Given the description of an element on the screen output the (x, y) to click on. 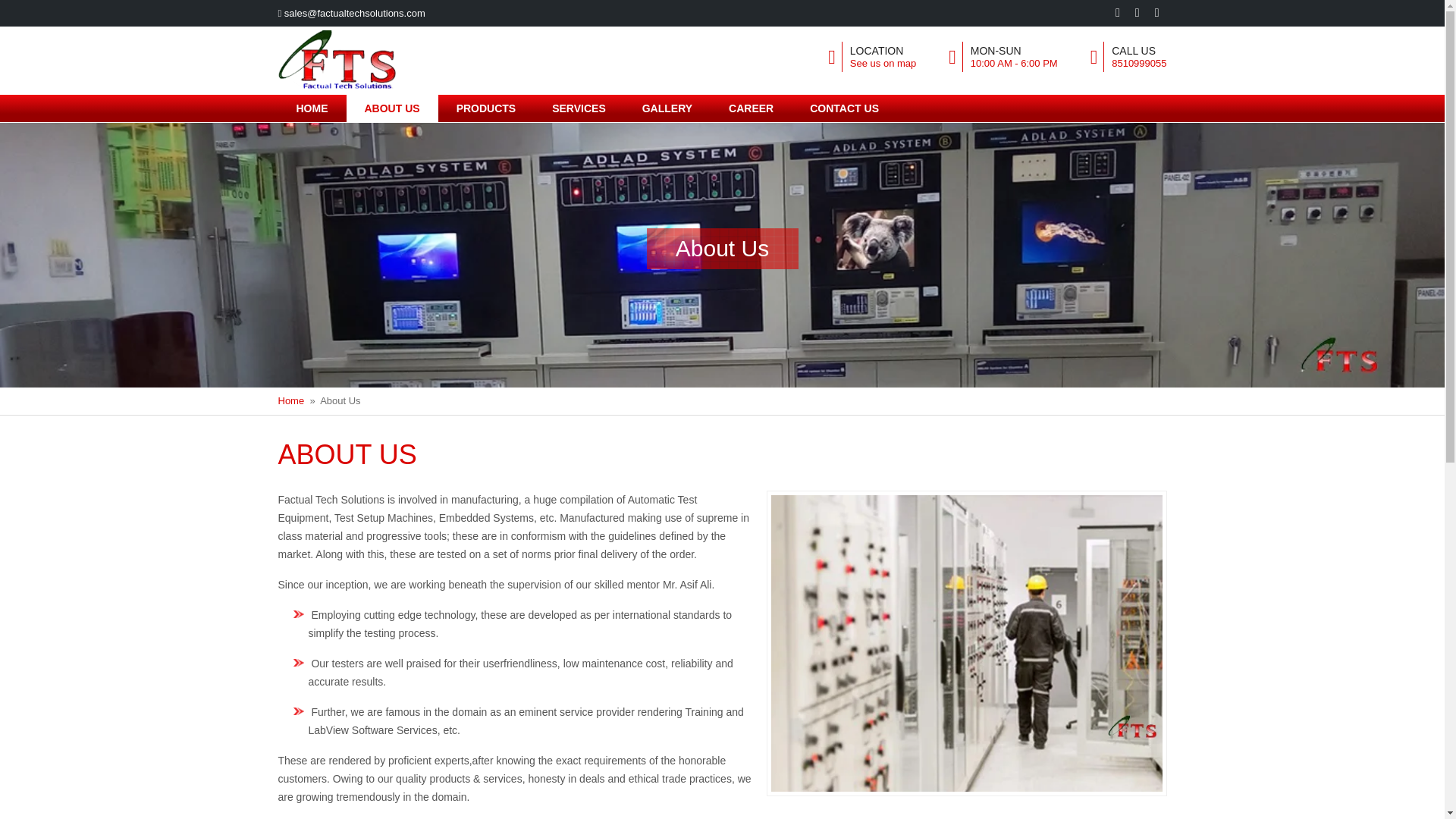
8510999055 (1139, 62)
See us on map (882, 62)
PRODUCTS (486, 108)
10:00 AM - 6:00 PM (1014, 62)
HOME (312, 108)
SERVICES (579, 108)
ABOUT US (392, 108)
